Given the description of an element on the screen output the (x, y) to click on. 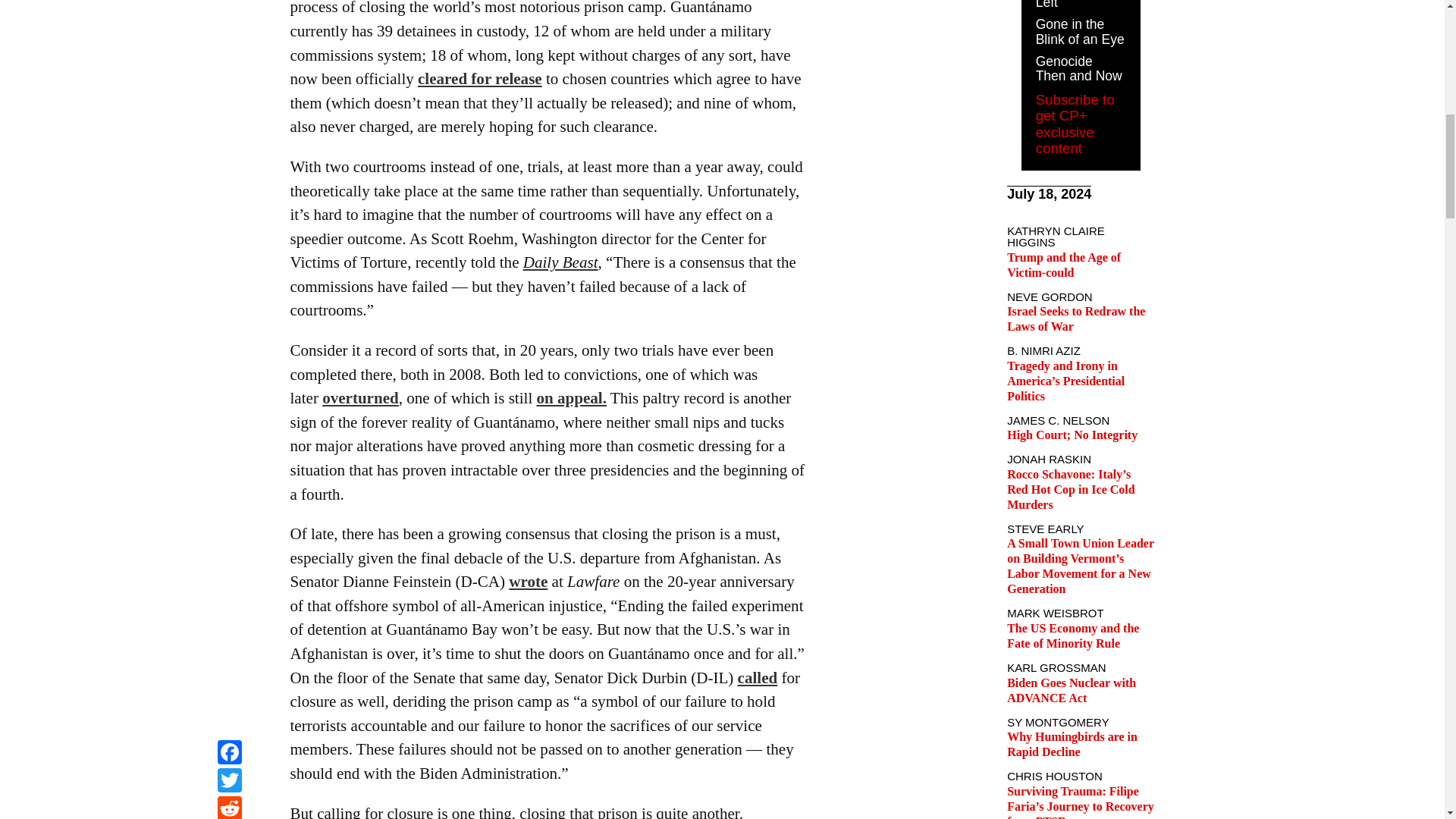
overturned (359, 398)
Daily Beast (560, 262)
Email (229, 18)
called (757, 678)
cleared for release (479, 78)
Email (229, 18)
wrote (527, 581)
Reddit (229, 2)
Reddit (229, 2)
on appeal. (572, 398)
